Given the description of an element on the screen output the (x, y) to click on. 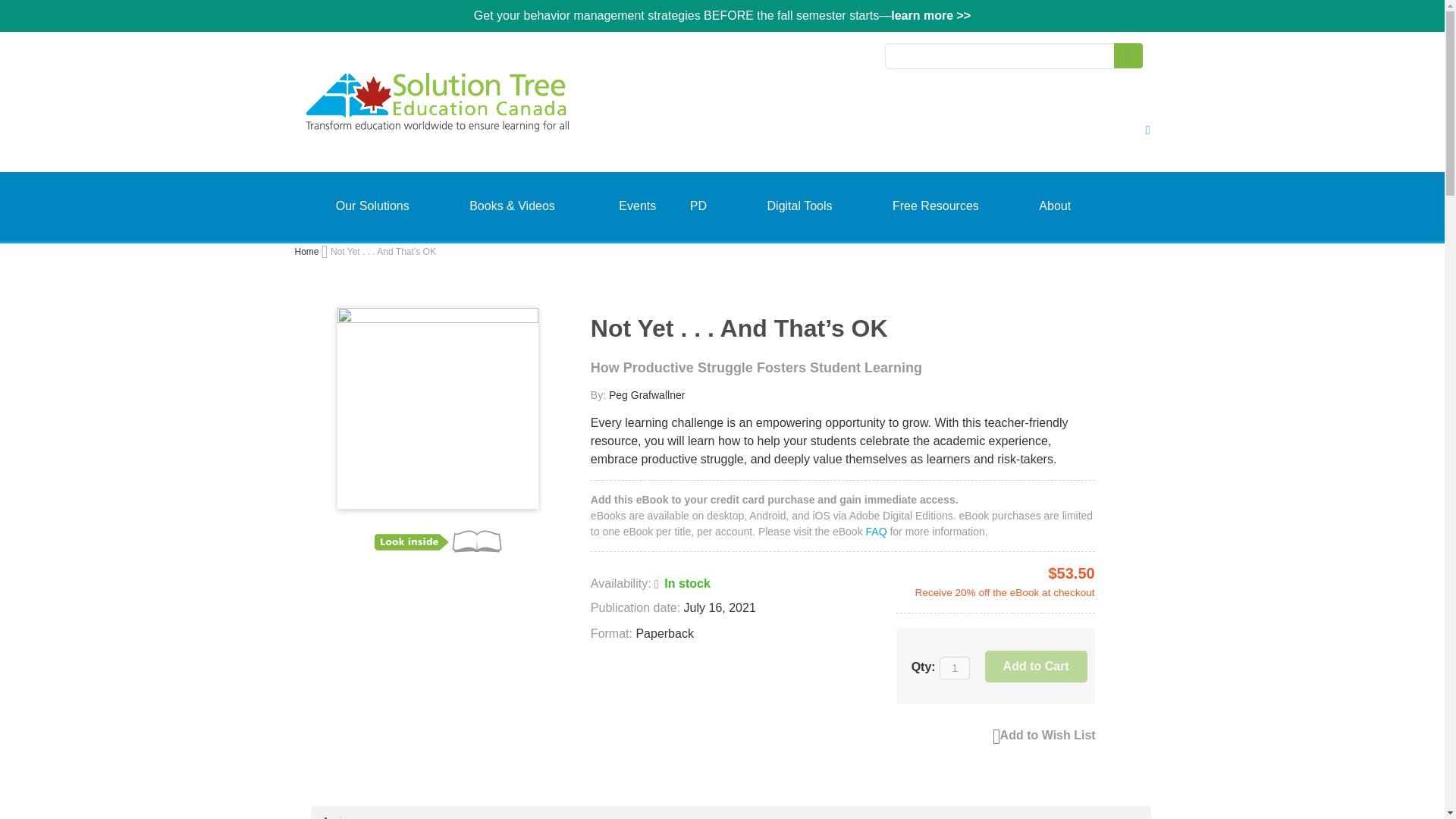
1 (954, 667)
Add to Cart (1036, 666)
Qty: (954, 667)
Search (1127, 55)
Availability (650, 583)
Go to Home Page (306, 251)
Search (1127, 55)
Our Solutions (372, 205)
